Given the description of an element on the screen output the (x, y) to click on. 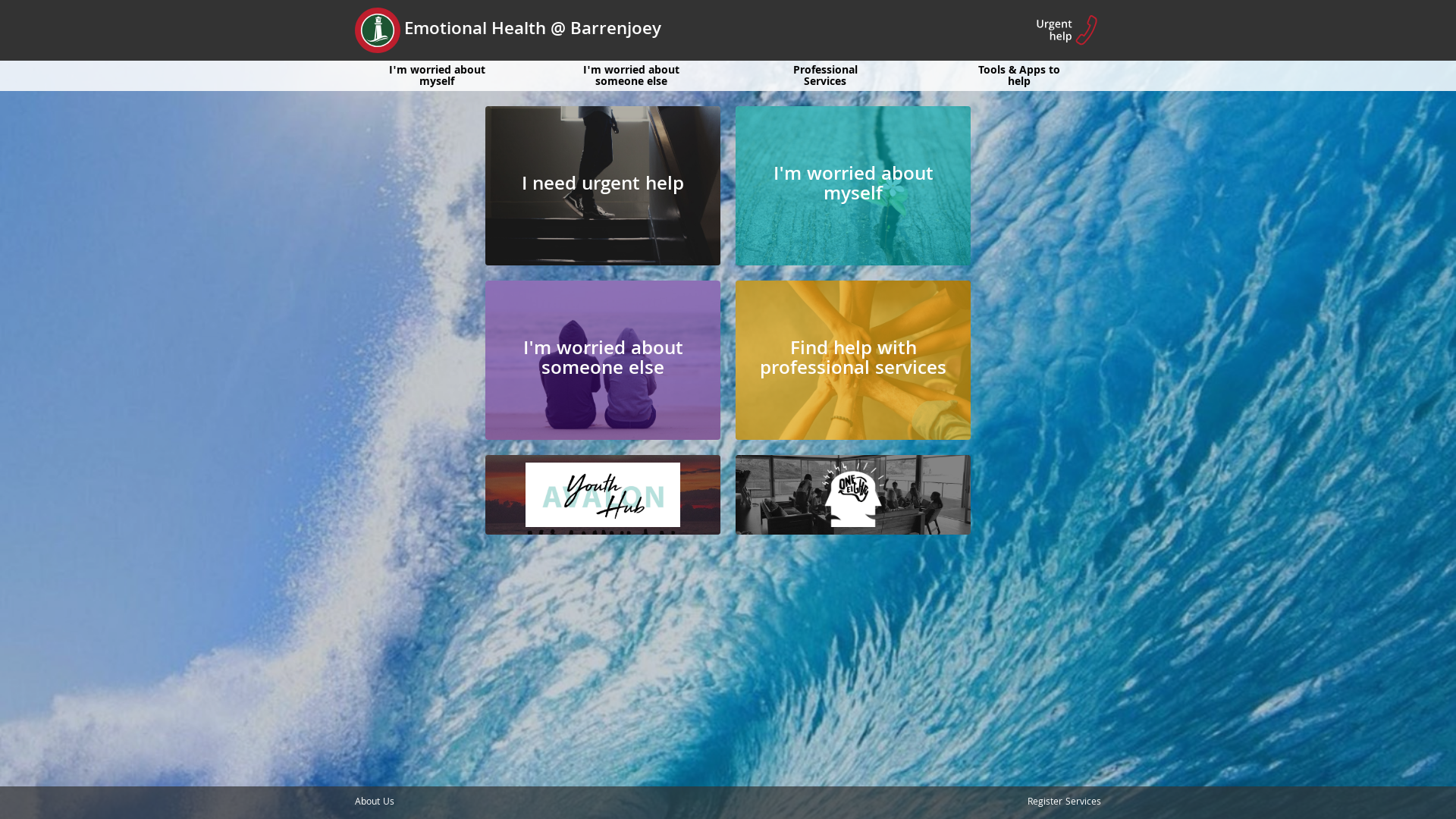
I need urgent help Element type: text (602, 185)
Find help with professional services Element type: text (852, 359)
I'm worried about myself Element type: text (852, 185)
Professional Services Element type: text (825, 74)
I'm worried about myself Element type: text (436, 74)
Emotional Health @ Barrenjoey Element type: text (507, 30)
I'm worried about someone else Element type: text (602, 359)
About Us Element type: text (374, 802)
Tools & Apps to help Element type: text (1019, 74)
I'm worried about someone else Element type: text (630, 74)
Register Services Element type: text (1064, 802)
